Given the description of an element on the screen output the (x, y) to click on. 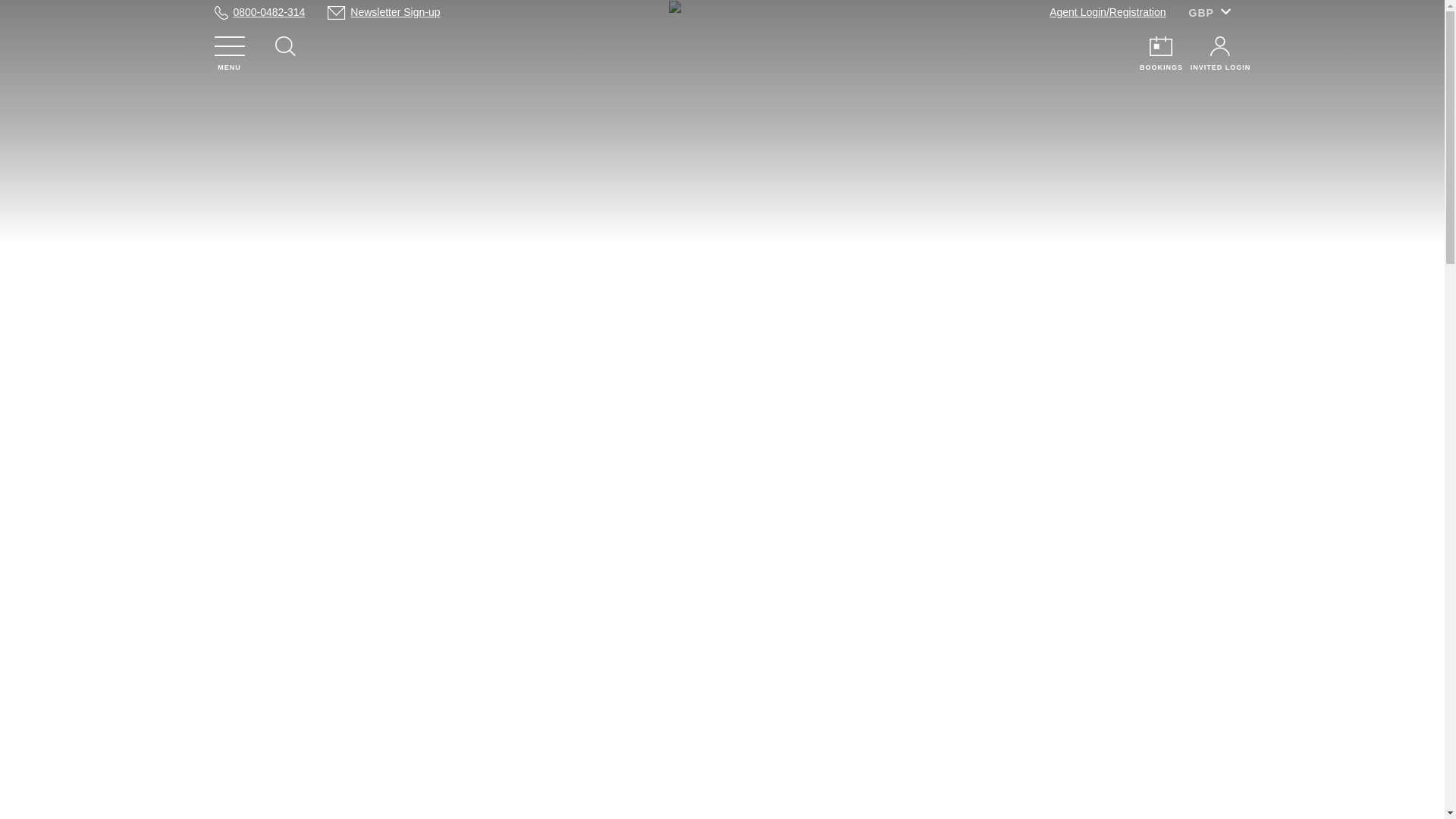
INVITED LOGIN (1219, 46)
Newsletter Sign-up (394, 12)
BOOKINGS (1161, 46)
0800-0482-314 (268, 12)
